Given the description of an element on the screen output the (x, y) to click on. 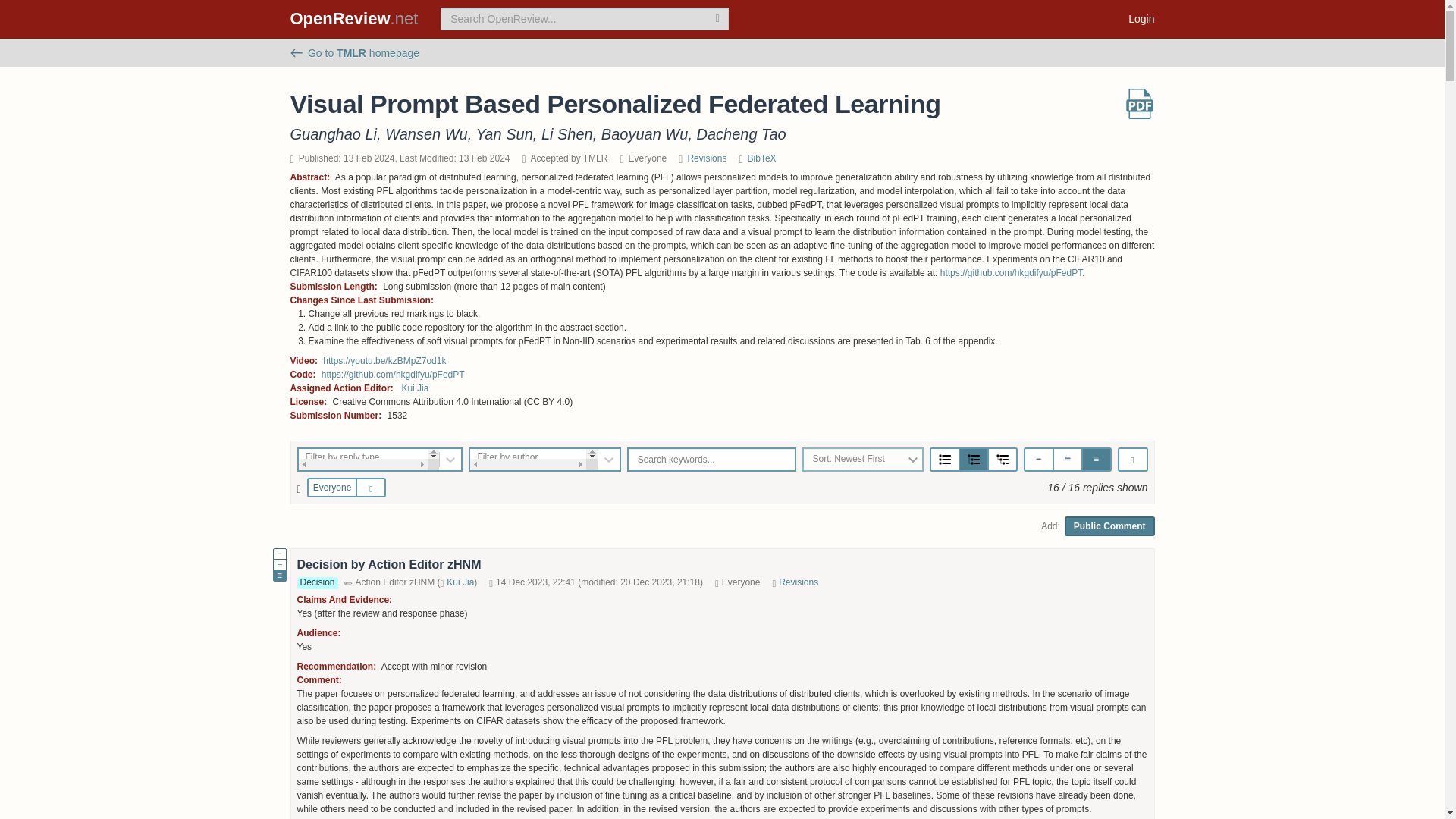
Li Shen (566, 134)
Threaded (973, 459)
Kui Jia (414, 388)
Login (1141, 18)
Dacheng Tao (740, 134)
Download PDF (1139, 103)
reset (373, 488)
BibTeX (762, 158)
Linear (944, 459)
Venue Homepage (354, 52)
